Given the description of an element on the screen output the (x, y) to click on. 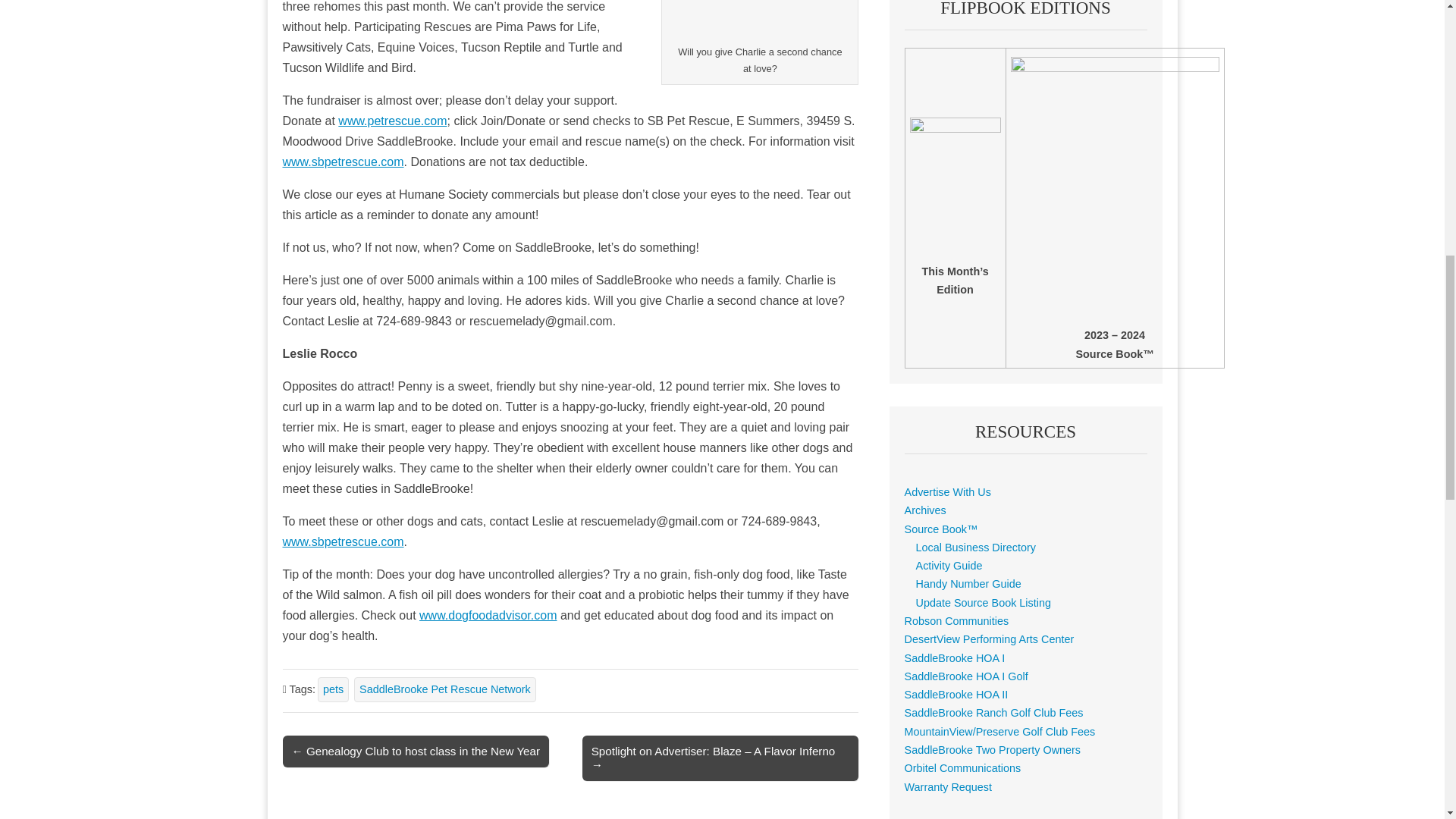
www.dogfoodadvisor.com (487, 615)
www.sbpetrescue.com (342, 541)
www.petrescue.com (391, 120)
www.sbpetrescue.com (342, 161)
